Given the description of an element on the screen output the (x, y) to click on. 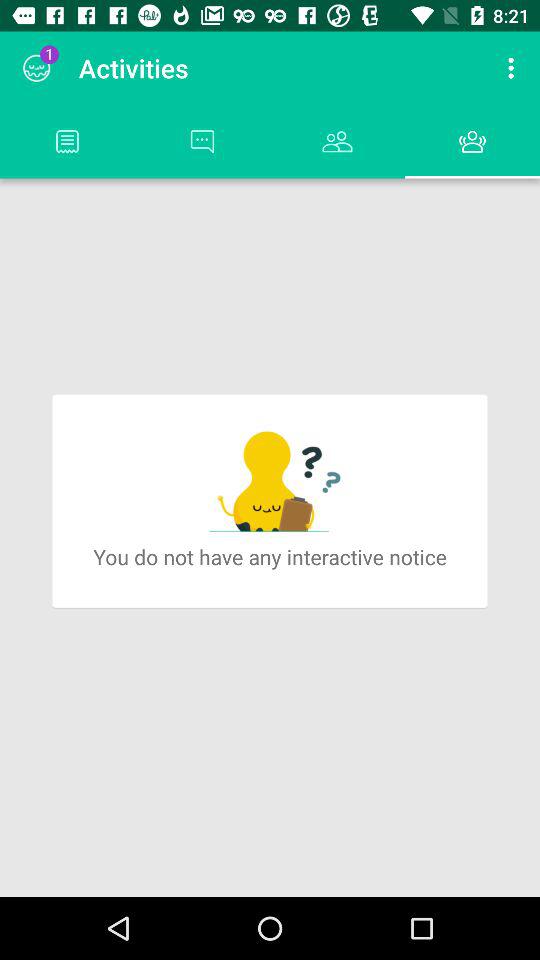
turn off item next to the activities icon (513, 67)
